Given the description of an element on the screen output the (x, y) to click on. 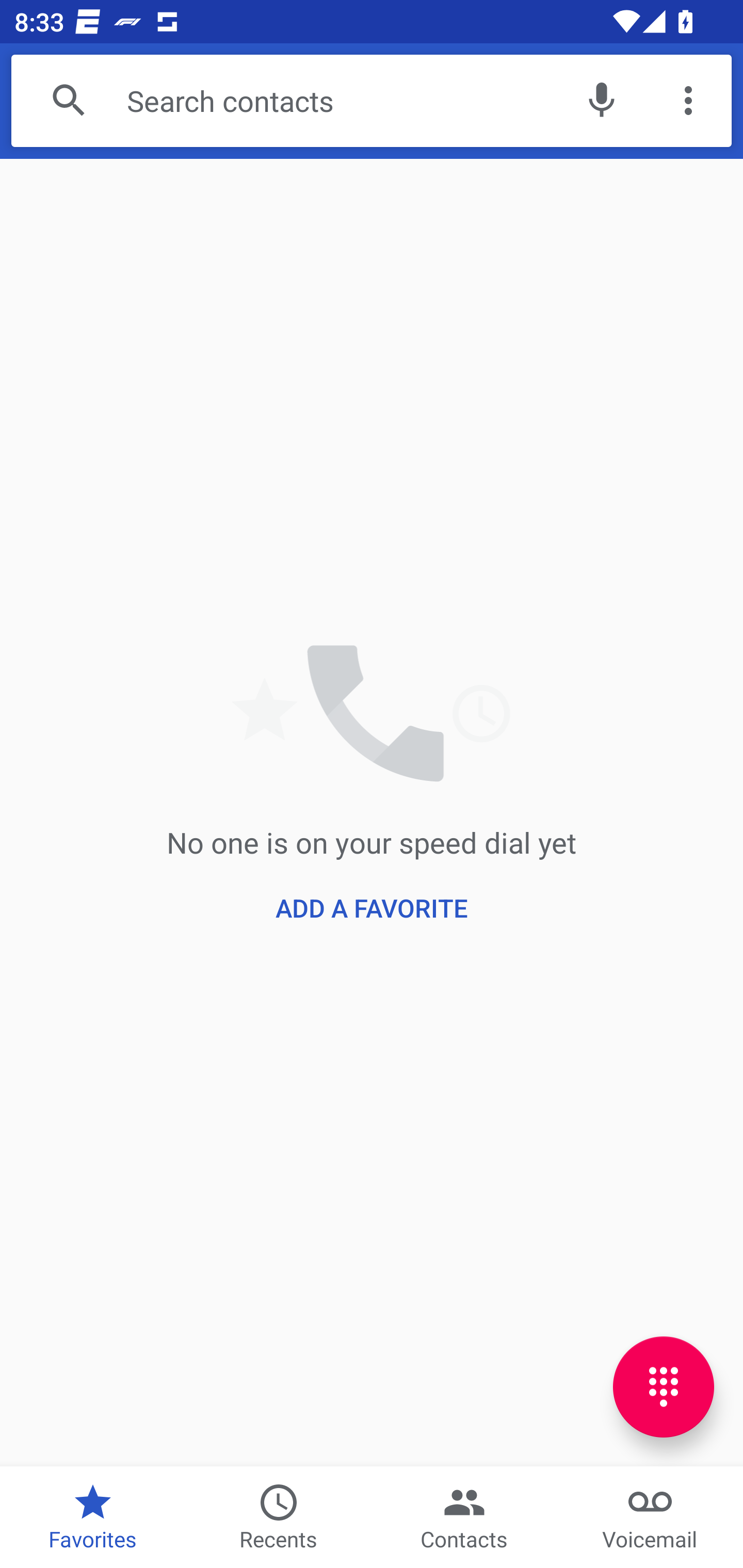
Search contacts Start voice search More options (371, 100)
Start voice search (600, 101)
More options (687, 101)
No one is on your speed dial yet ADD A FAVORITE (371, 812)
ADD A FAVORITE (371, 907)
key pad (663, 1386)
Favorites (92, 1517)
Recents (278, 1517)
Contacts (464, 1517)
Voicemail (650, 1517)
